Given the description of an element on the screen output the (x, y) to click on. 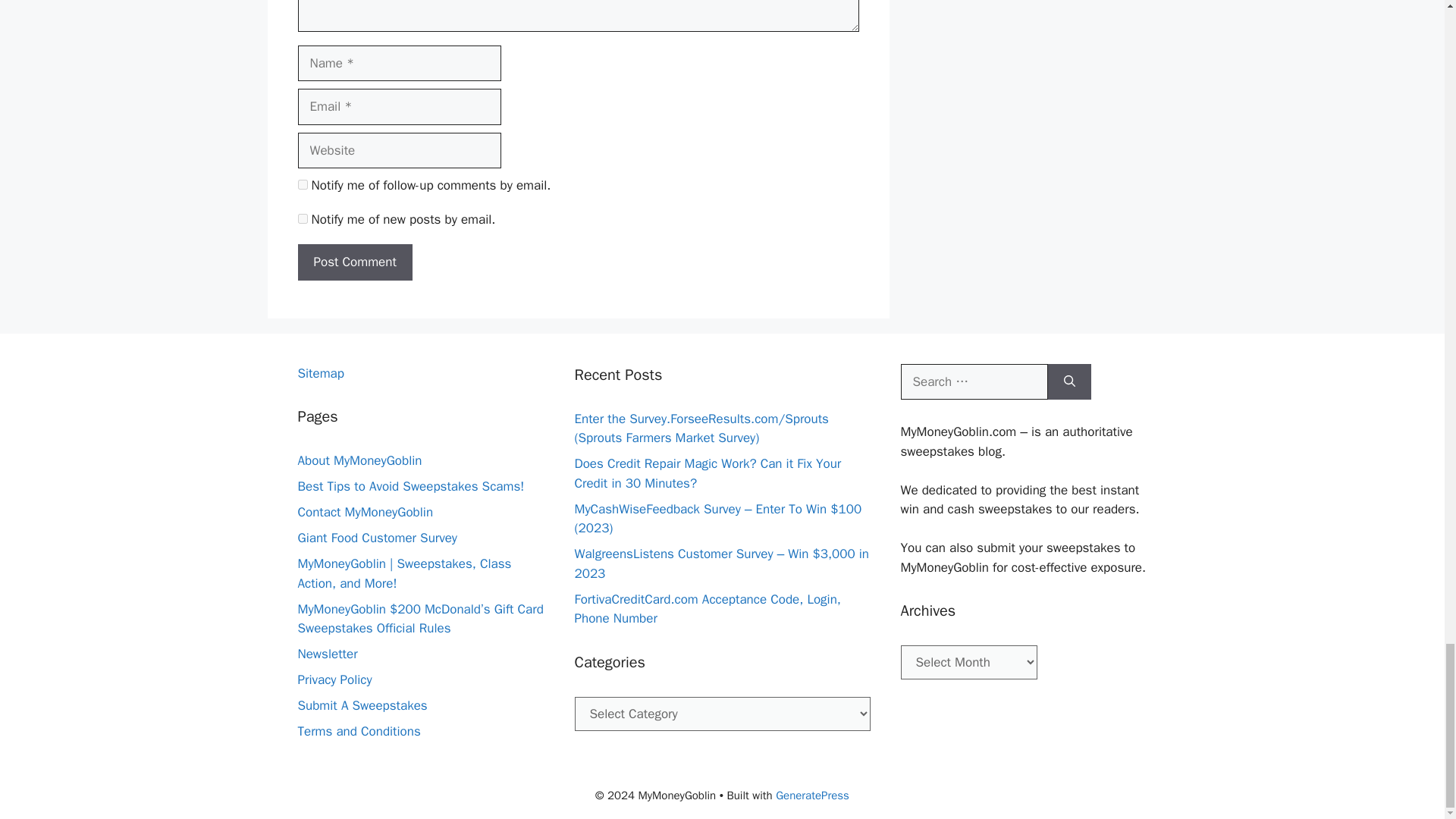
Best Tips to Avoid Sweepstakes Scams! (410, 486)
Post Comment (354, 262)
subscribe (302, 184)
subscribe (302, 218)
Post Comment (354, 262)
Giant Food Customer Survey (377, 537)
About MyMoneyGoblin (359, 460)
Contact MyMoneyGoblin (364, 512)
Search for: (974, 381)
Sitemap (320, 373)
